Given the description of an element on the screen output the (x, y) to click on. 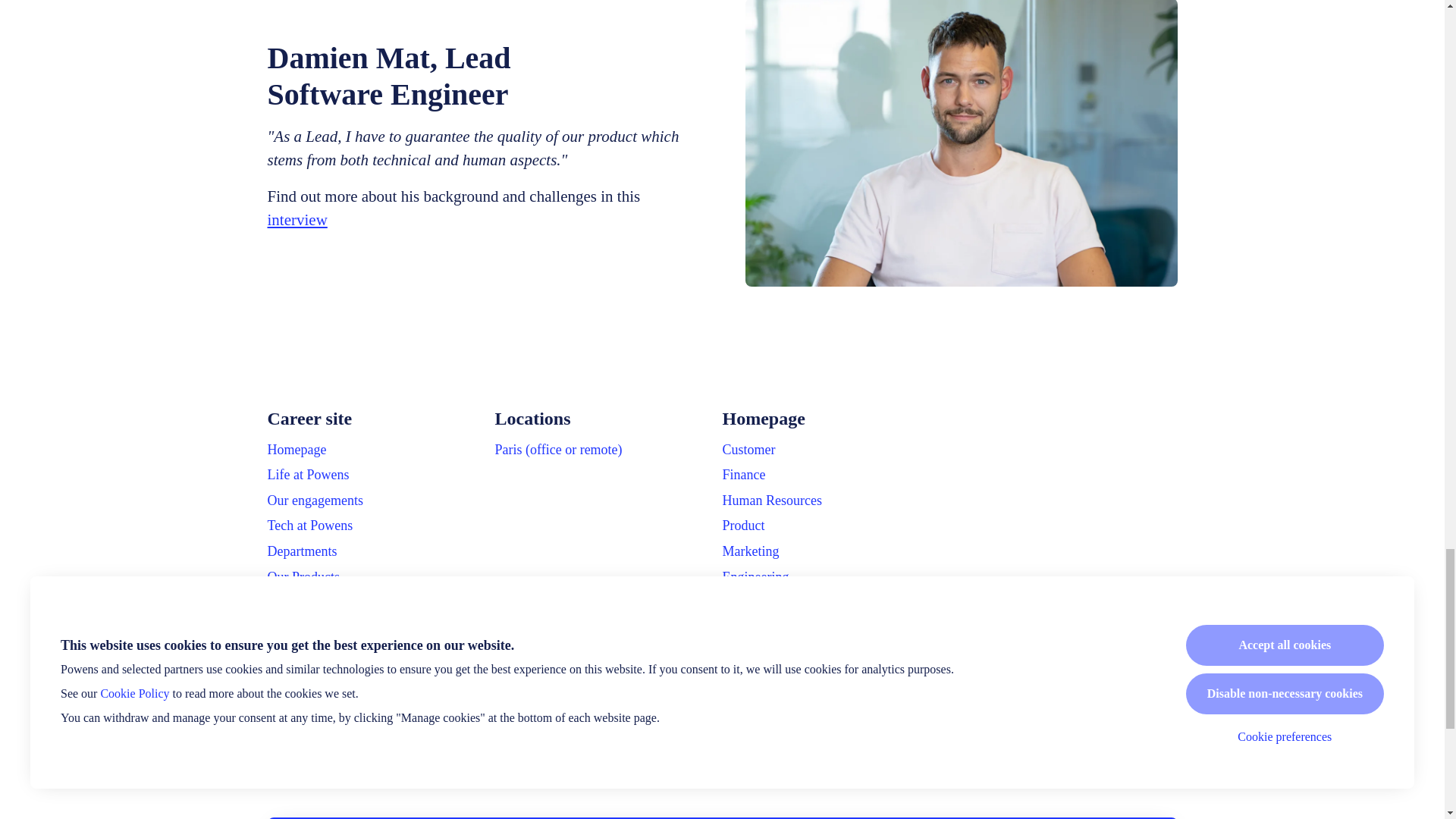
interview (296, 219)
Finance (743, 474)
Career opportunities (322, 601)
Our Products (302, 577)
Marketing (750, 550)
All Homepage (762, 601)
Customer (748, 449)
Change language (1103, 751)
Human Resources (771, 500)
Our engagements (314, 500)
